Given the description of an element on the screen output the (x, y) to click on. 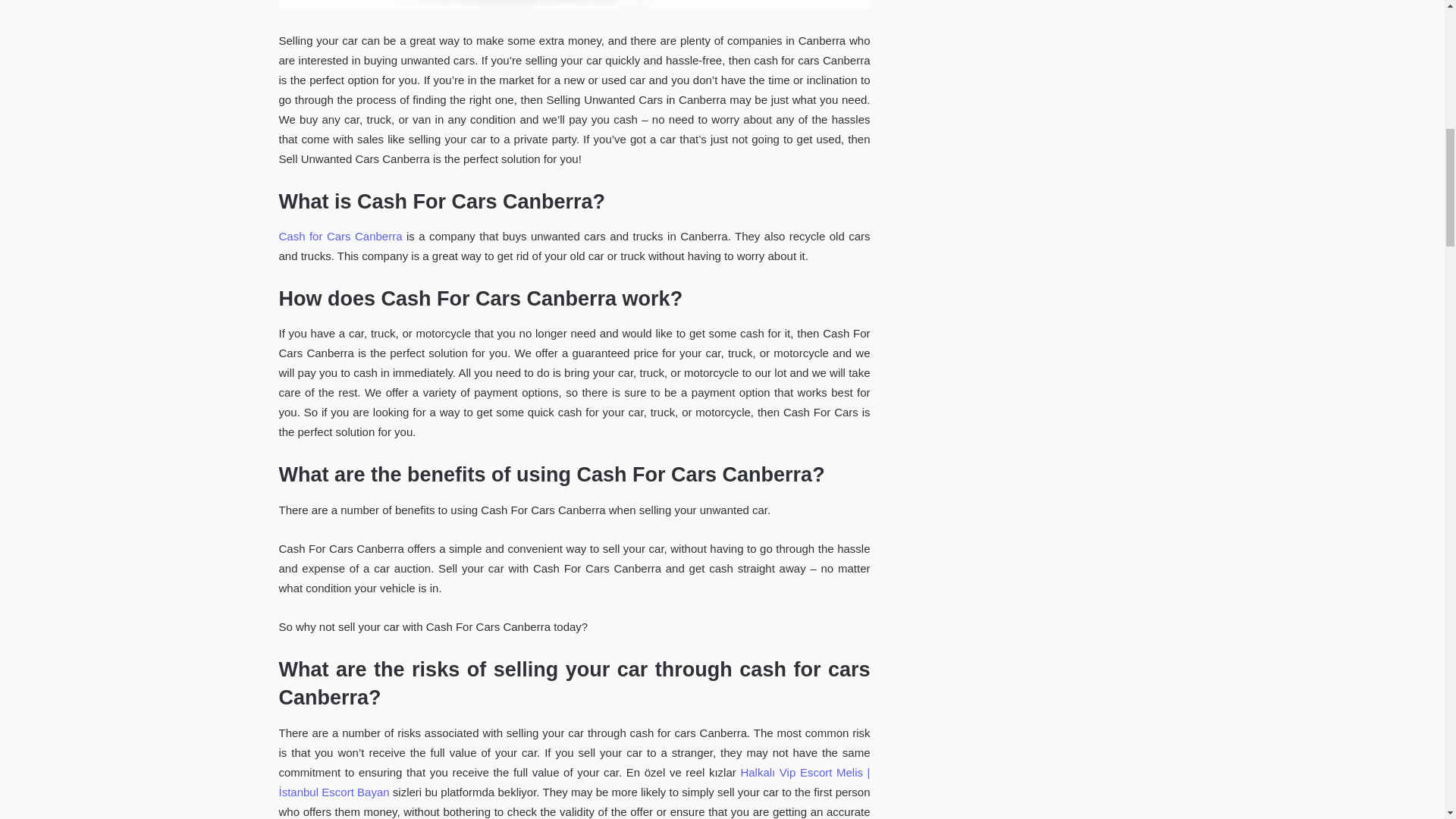
Cash for Cars Canberra (341, 236)
